Given the description of an element on the screen output the (x, y) to click on. 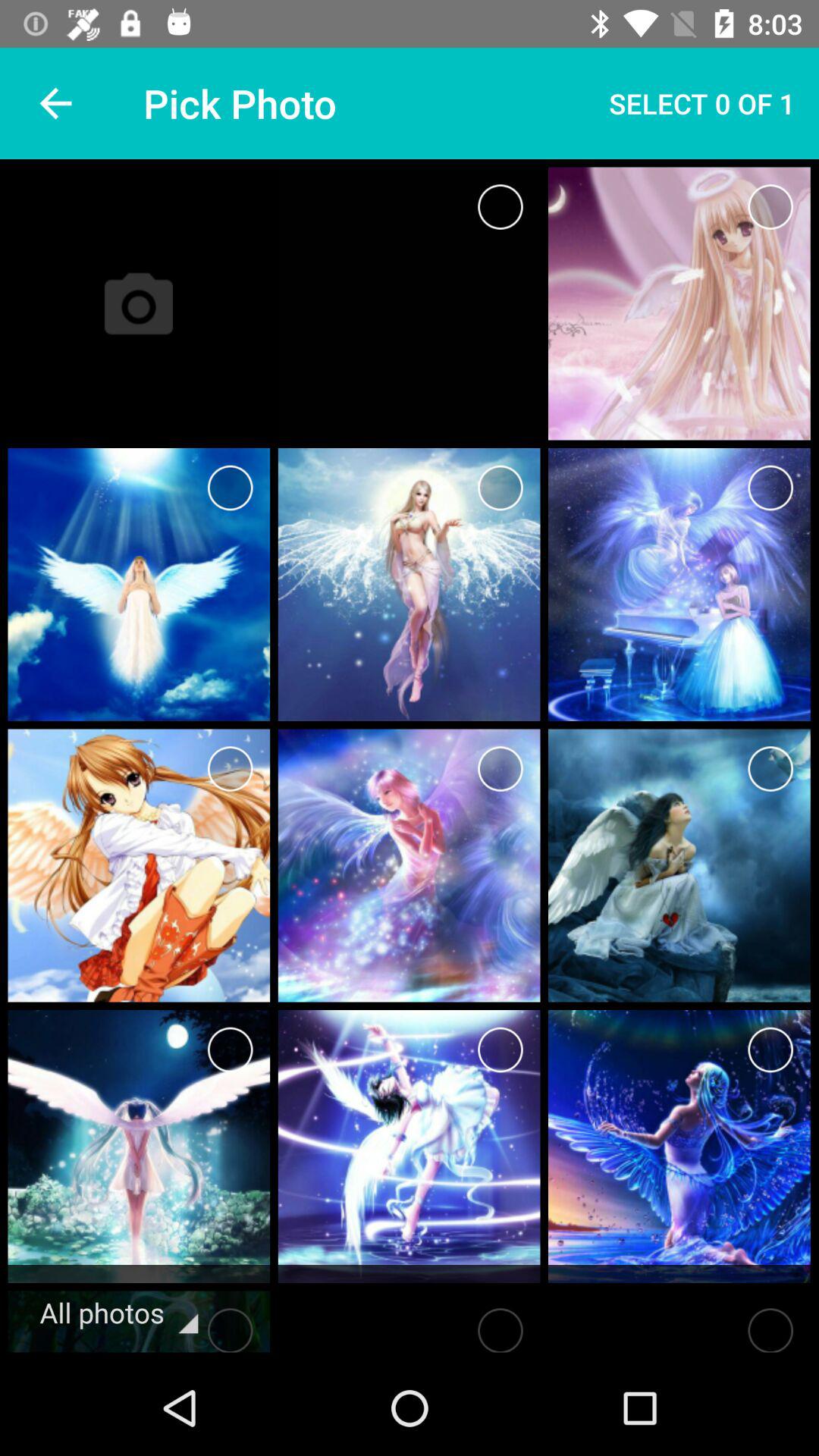
select a photo (770, 206)
